Given the description of an element on the screen output the (x, y) to click on. 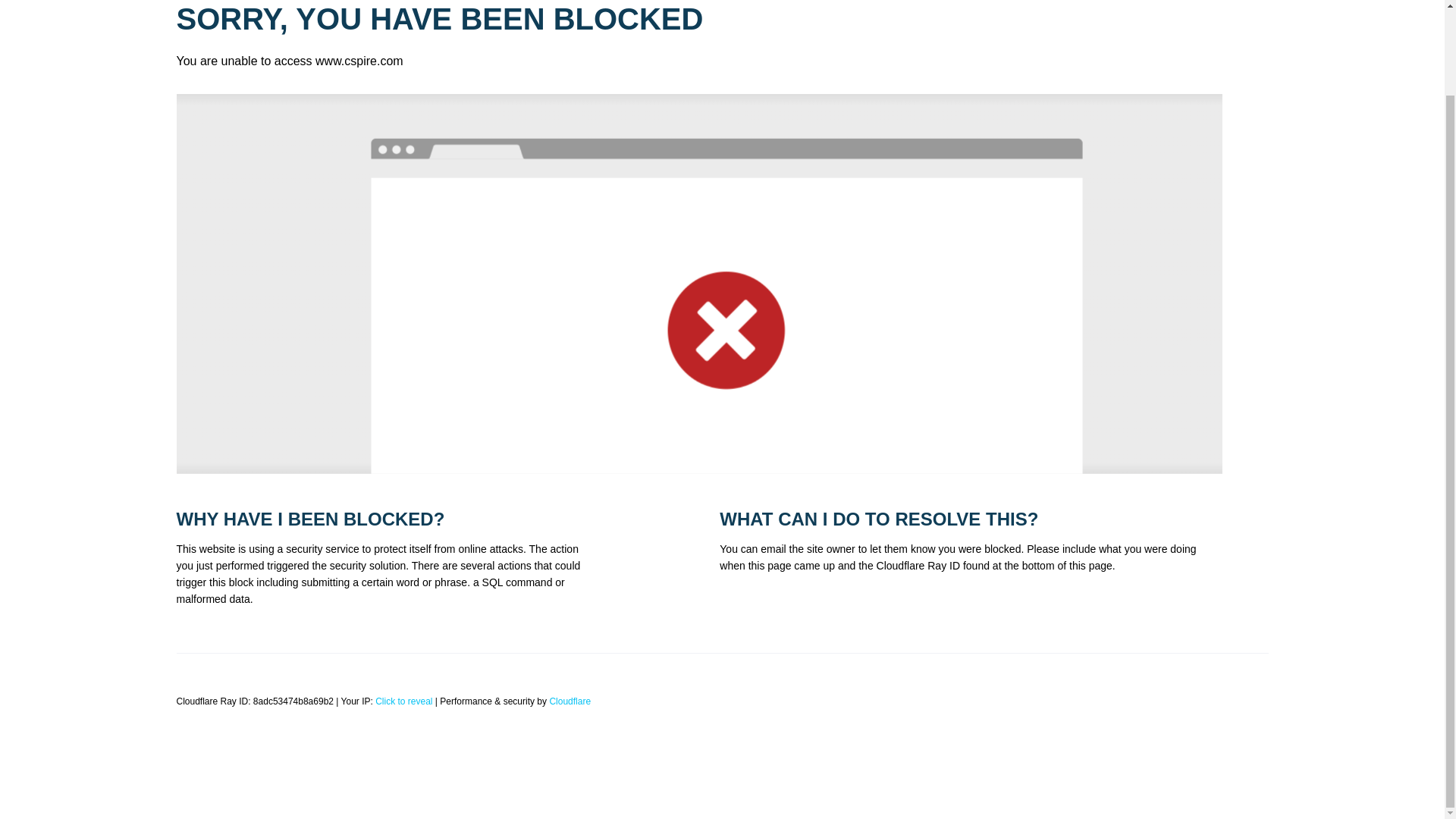
Cloudflare (569, 701)
